Given the description of an element on the screen output the (x, y) to click on. 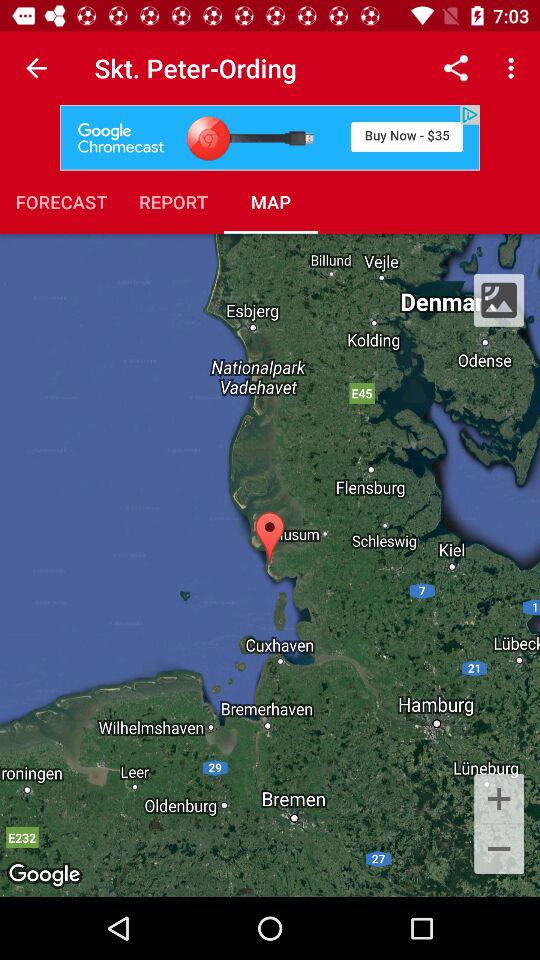
choose item at the center (270, 564)
